Given the description of an element on the screen output the (x, y) to click on. 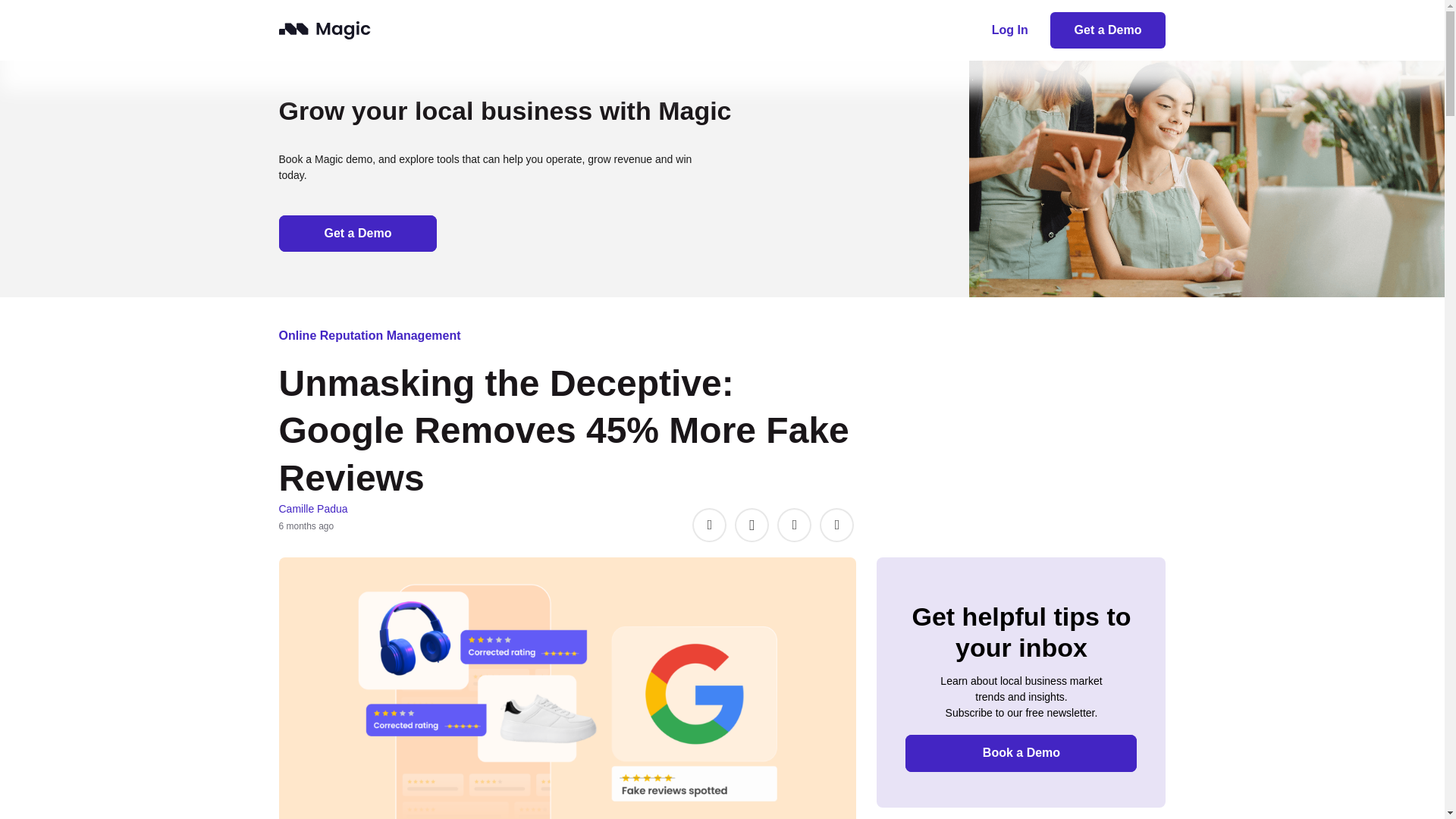
Facebook (709, 524)
Book a Demo (358, 233)
Get a Demo (1107, 30)
Online Reputation Management (370, 335)
Log In (1009, 30)
LinkedIn (836, 524)
Book a Demo (1021, 752)
Camille Padua (313, 508)
Get a Demo (358, 233)
Instagram (751, 524)
